Given the description of an element on the screen output the (x, y) to click on. 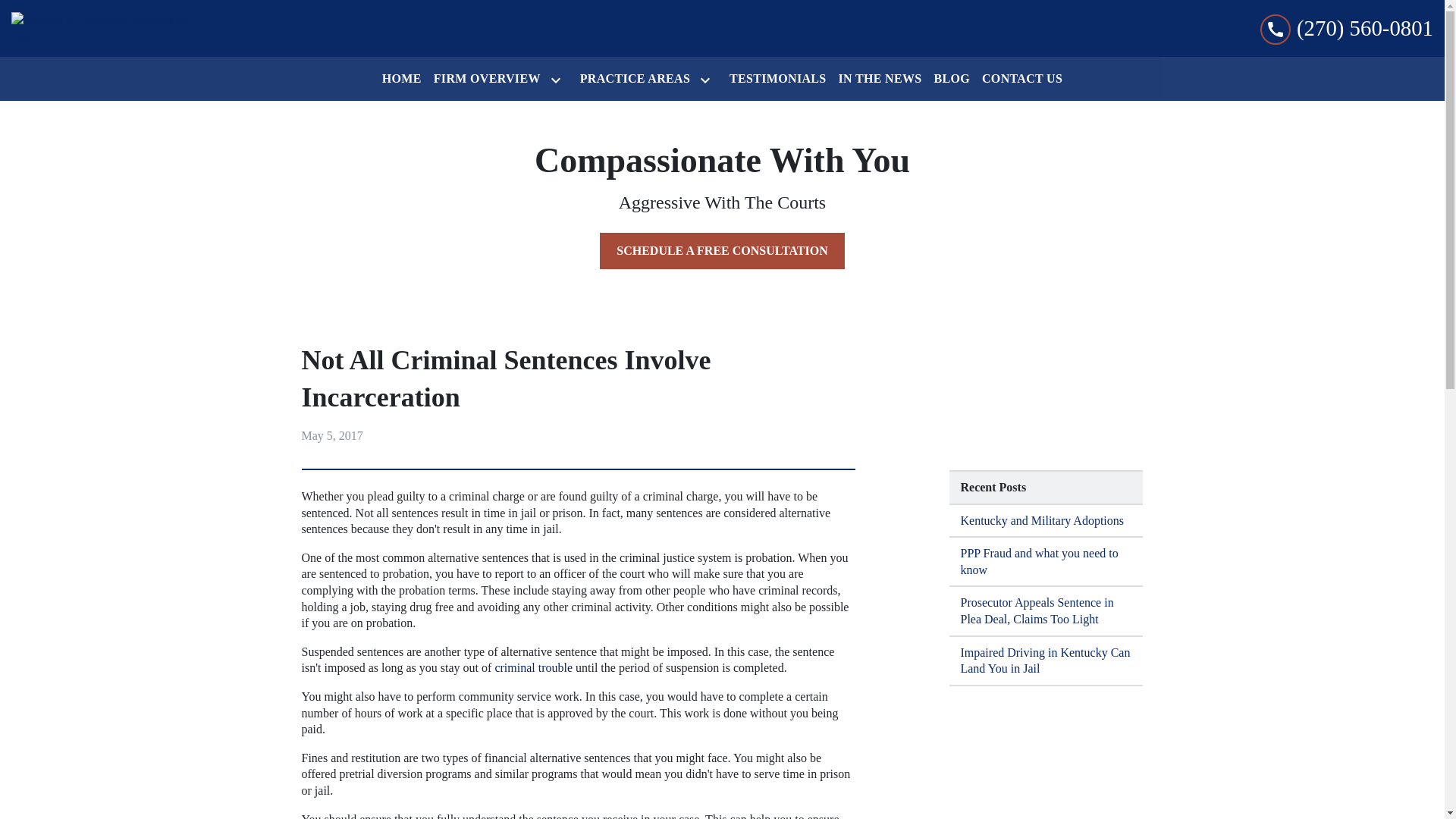
HOME (401, 78)
Prosecutor Appeals Sentence in Plea Deal, Claims Too Light (1045, 611)
SCHEDULE A FREE CONSULTATION (721, 250)
Impaired Driving in Kentucky Can Land You in Jail (1045, 661)
FIRM OVERVIEW (484, 78)
criminal trouble (533, 667)
PPP Fraud and what you need to know (1045, 562)
TESTIMONIALS (777, 78)
IN THE NEWS (880, 78)
Kentucky and Military Adoptions (1045, 521)
BLOG (951, 78)
CONTACT US (1021, 78)
PRACTICE AREAS (631, 78)
